Given the description of an element on the screen output the (x, y) to click on. 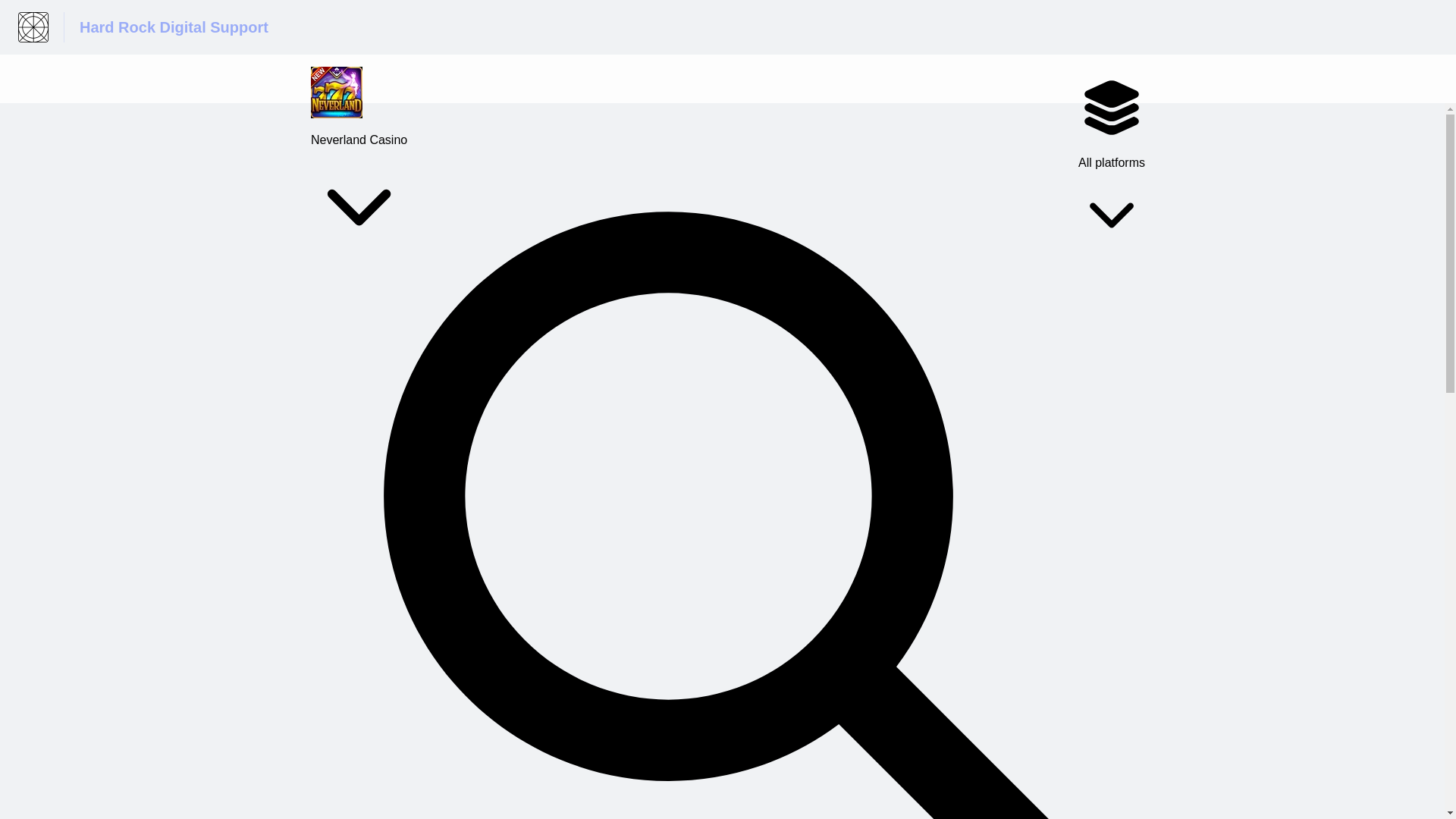
Hard Rock Digital Support (173, 27)
